Given the description of an element on the screen output the (x, y) to click on. 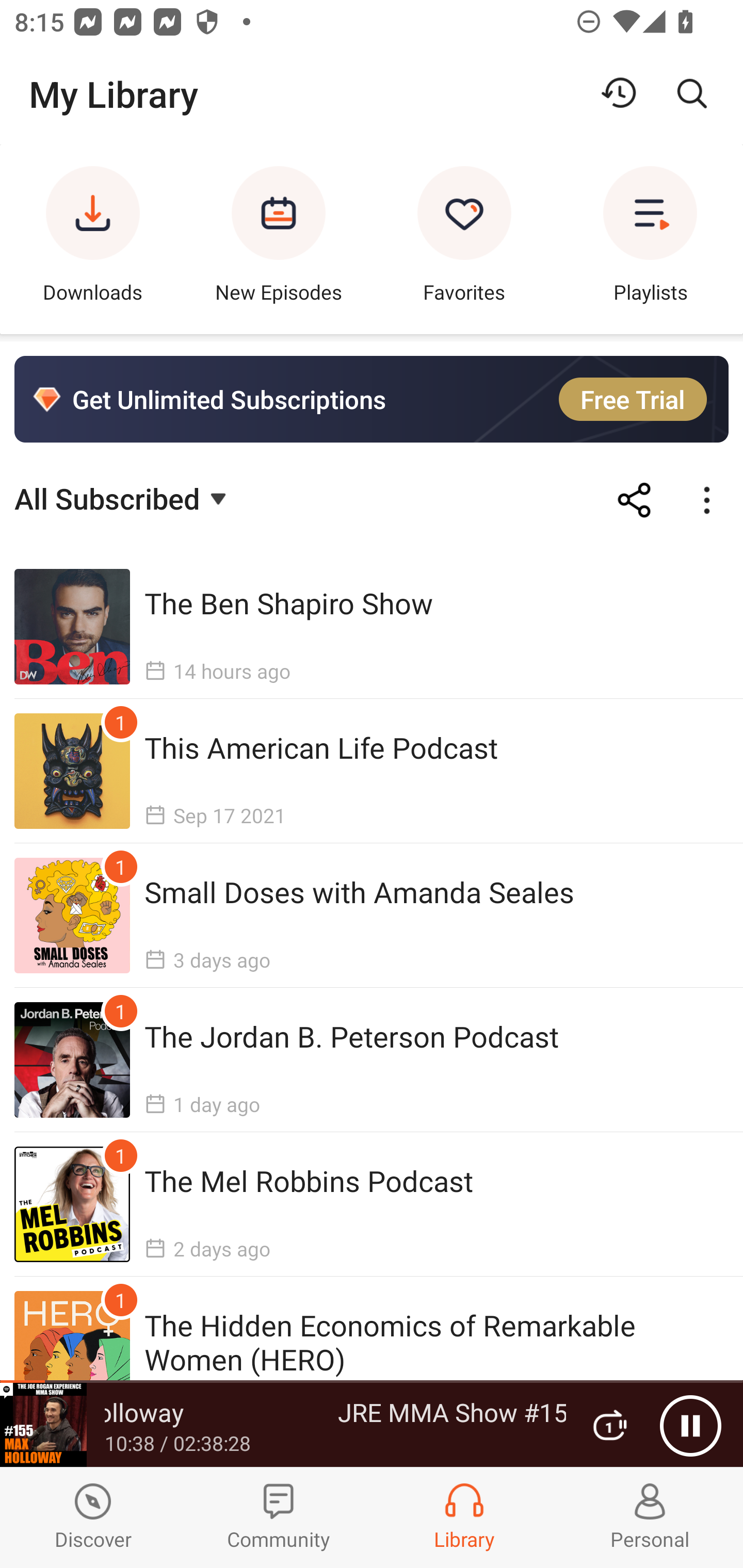
Downloads (92, 238)
New Episodes (278, 238)
Favorites (464, 238)
Playlists (650, 238)
Get Unlimited Subscriptions Free Trial (371, 398)
Free Trial (632, 398)
All Subscribed (123, 497)
Pause (690, 1425)
